Given the description of an element on the screen output the (x, y) to click on. 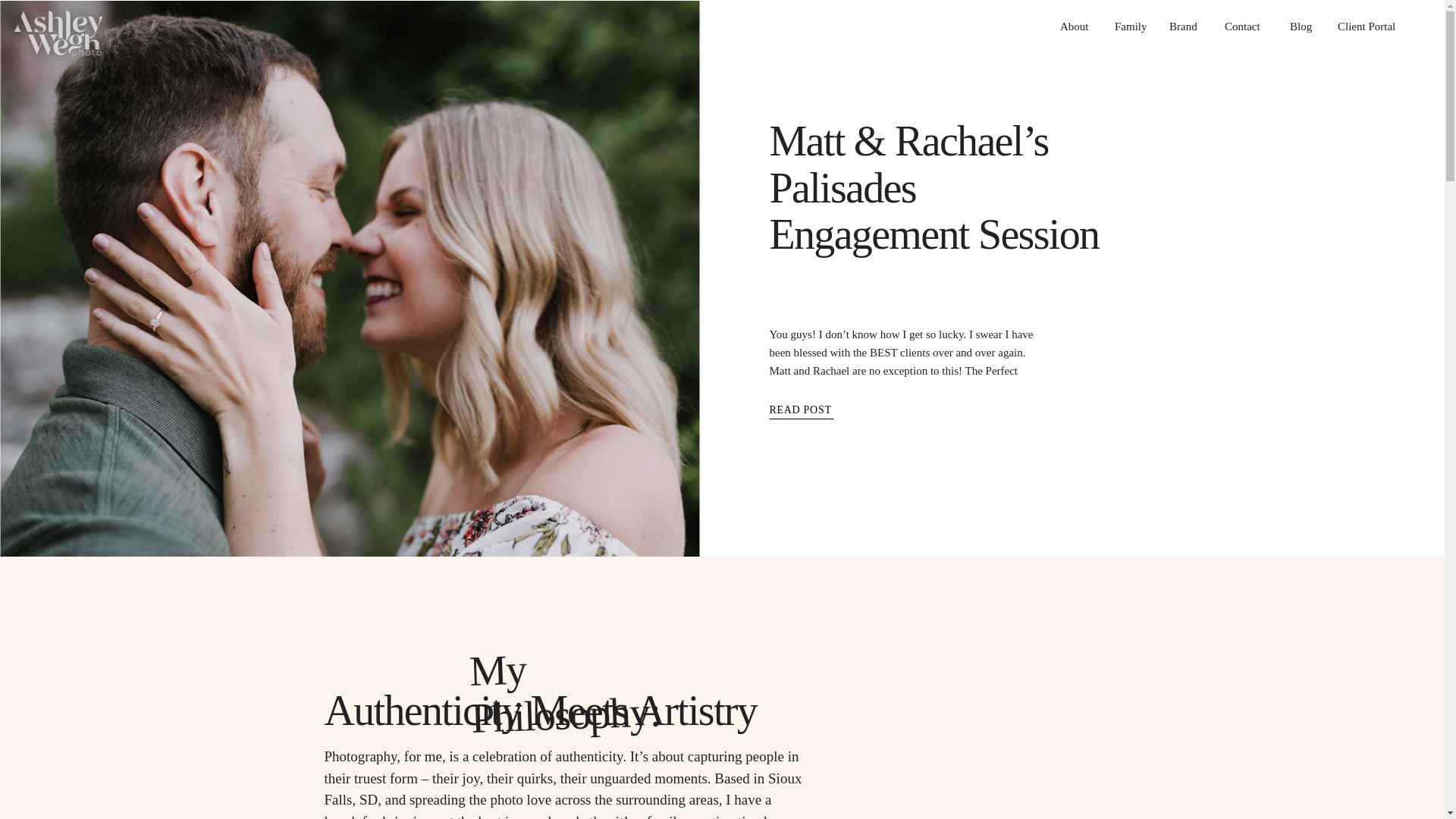
Blog (1302, 24)
Brand (1184, 24)
Client Portal (1370, 24)
READ POST (829, 412)
Contact (1245, 24)
Family (1130, 24)
About (1074, 24)
